Given the description of an element on the screen output the (x, y) to click on. 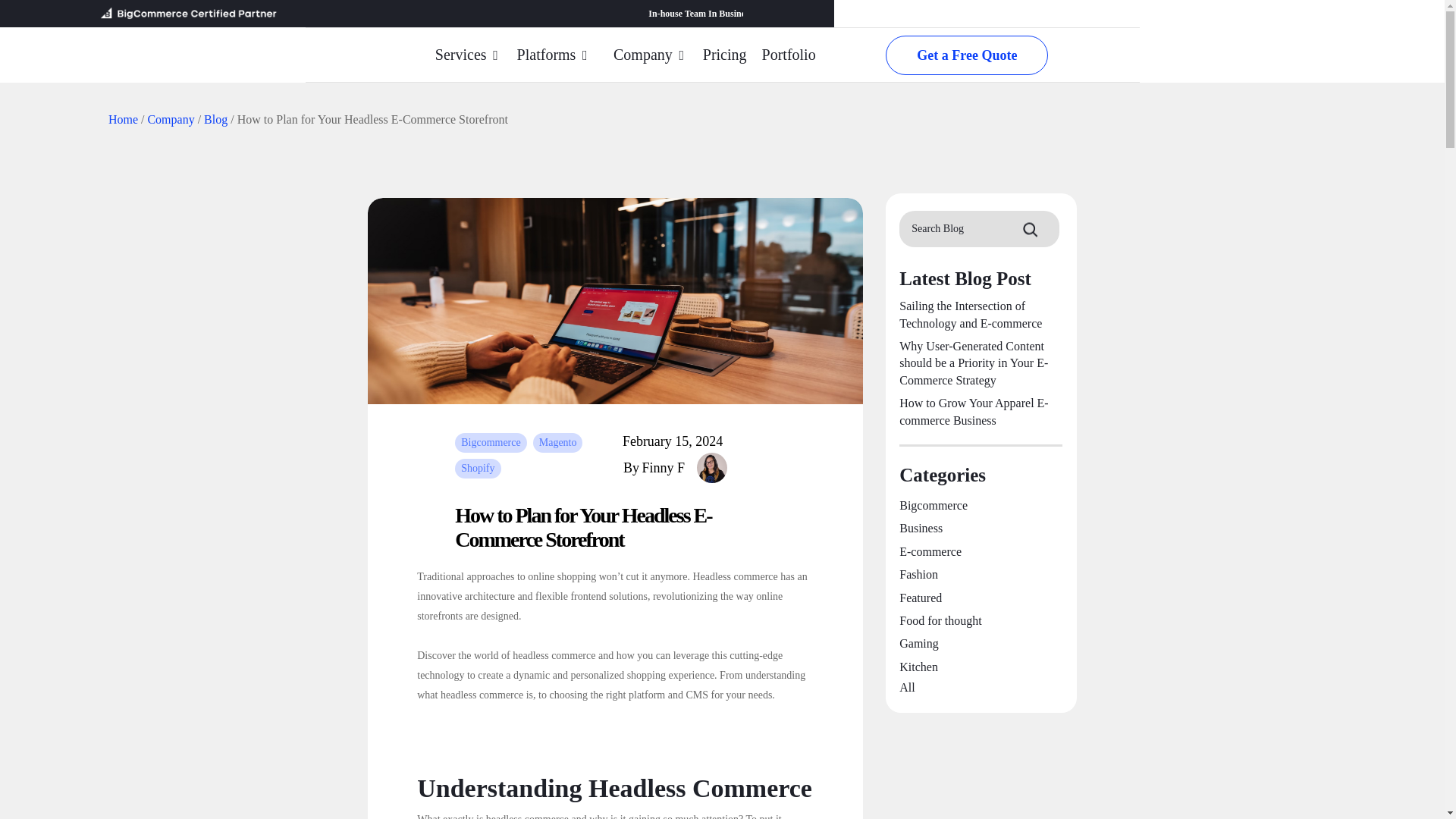
Pricing (724, 54)
Posts by Finny F (684, 467)
Home (122, 119)
Portfolio (789, 54)
Blog (215, 119)
Company (650, 54)
Services (468, 54)
Company (170, 119)
Get a Free Quote (966, 54)
Platforms (553, 54)
